Given the description of an element on the screen output the (x, y) to click on. 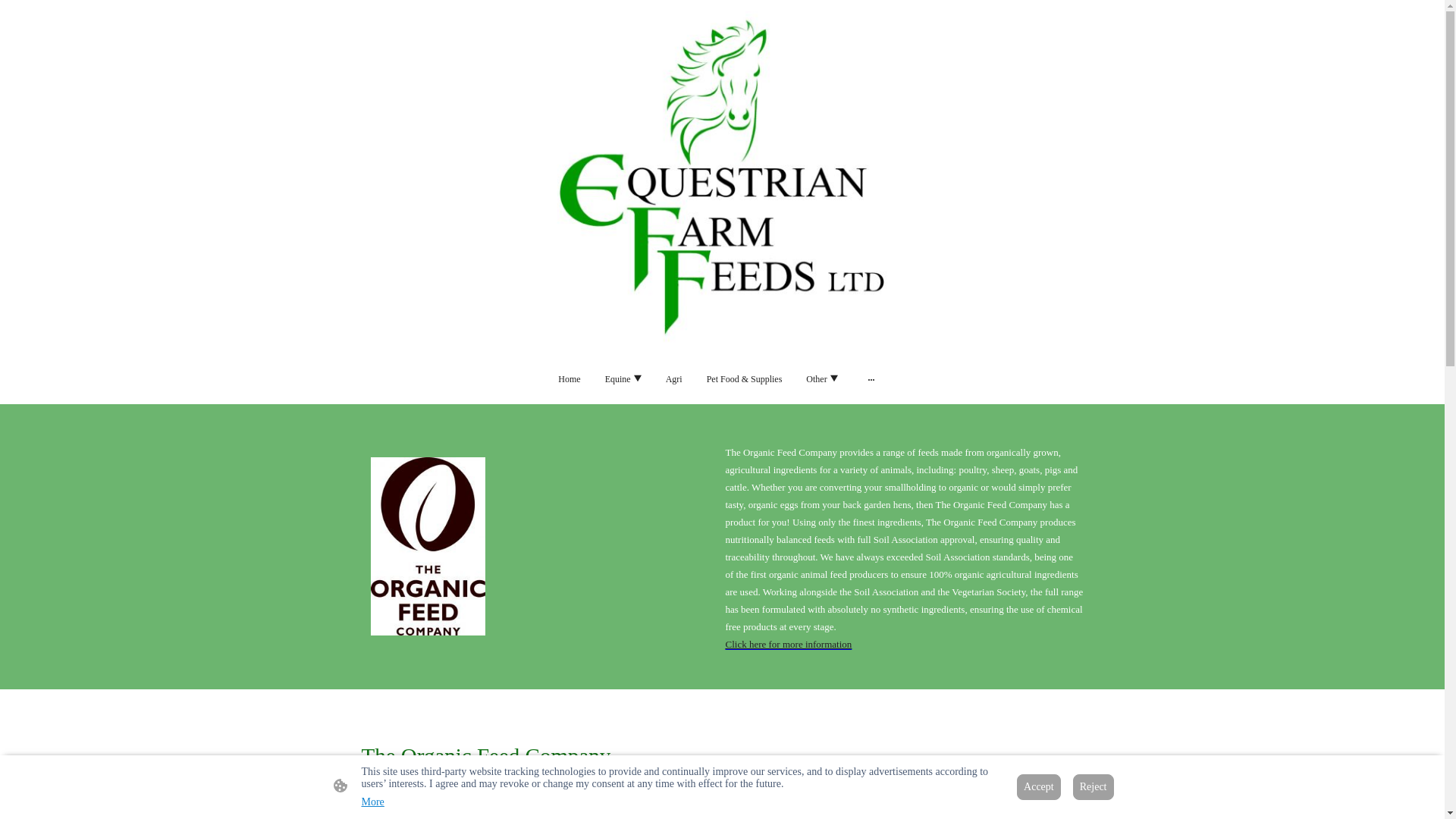
Home (569, 379)
Agri (674, 379)
Other (820, 379)
Equine (622, 379)
